Given the description of an element on the screen output the (x, y) to click on. 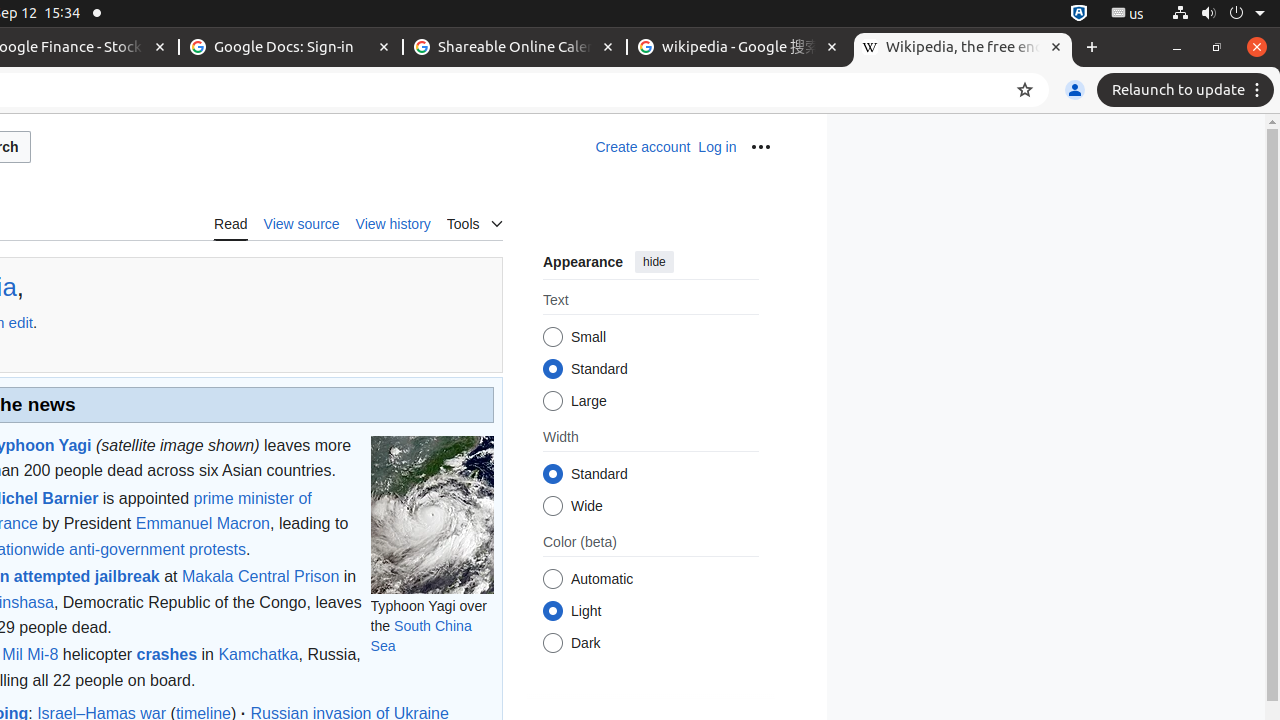
Shareable Online Calendar and Scheduling - Google Calendar - Memory usage - 88.5 MB Element type: page-tab (515, 47)
crashes Element type: link (167, 655)
System Element type: menu (1218, 13)
Standard Element type: radio-button (552, 474)
Personal tools Element type: push-button (760, 147)
